Given the description of an element on the screen output the (x, y) to click on. 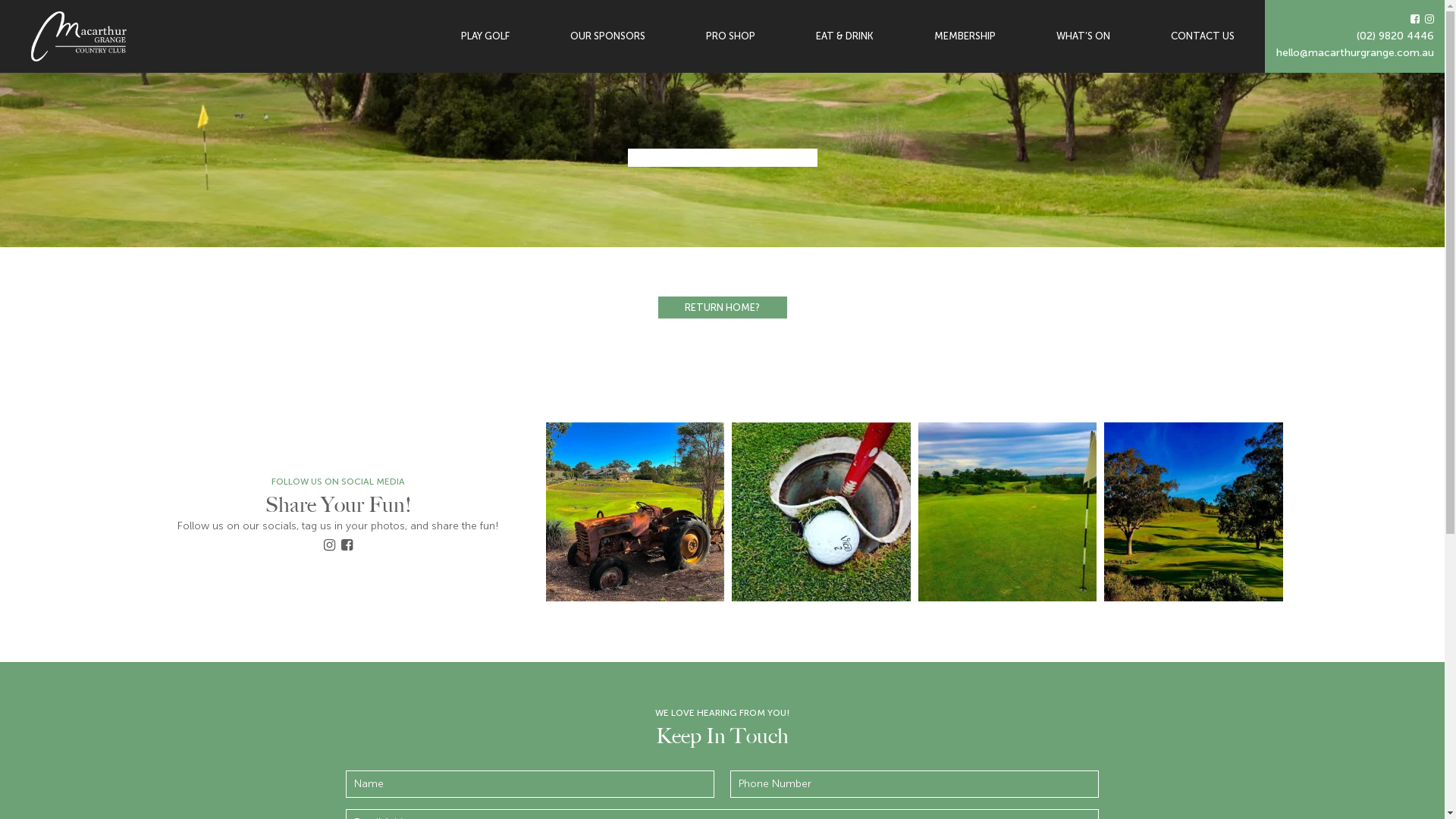
hello@macarthurgrange.com.au Element type: text (1355, 52)
MEMBERSHIP Element type: text (964, 35)
PLAY GOLF Element type: text (484, 35)
PRO SHOP Element type: text (730, 35)
(02) 9820 4446 Element type: text (1355, 36)
OUR SPONSORS Element type: text (607, 35)
CONTACT US Element type: text (1202, 35)
EAT & DRINK Element type: text (844, 35)
RETURN HOME? Element type: text (722, 307)
